Given the description of an element on the screen output the (x, y) to click on. 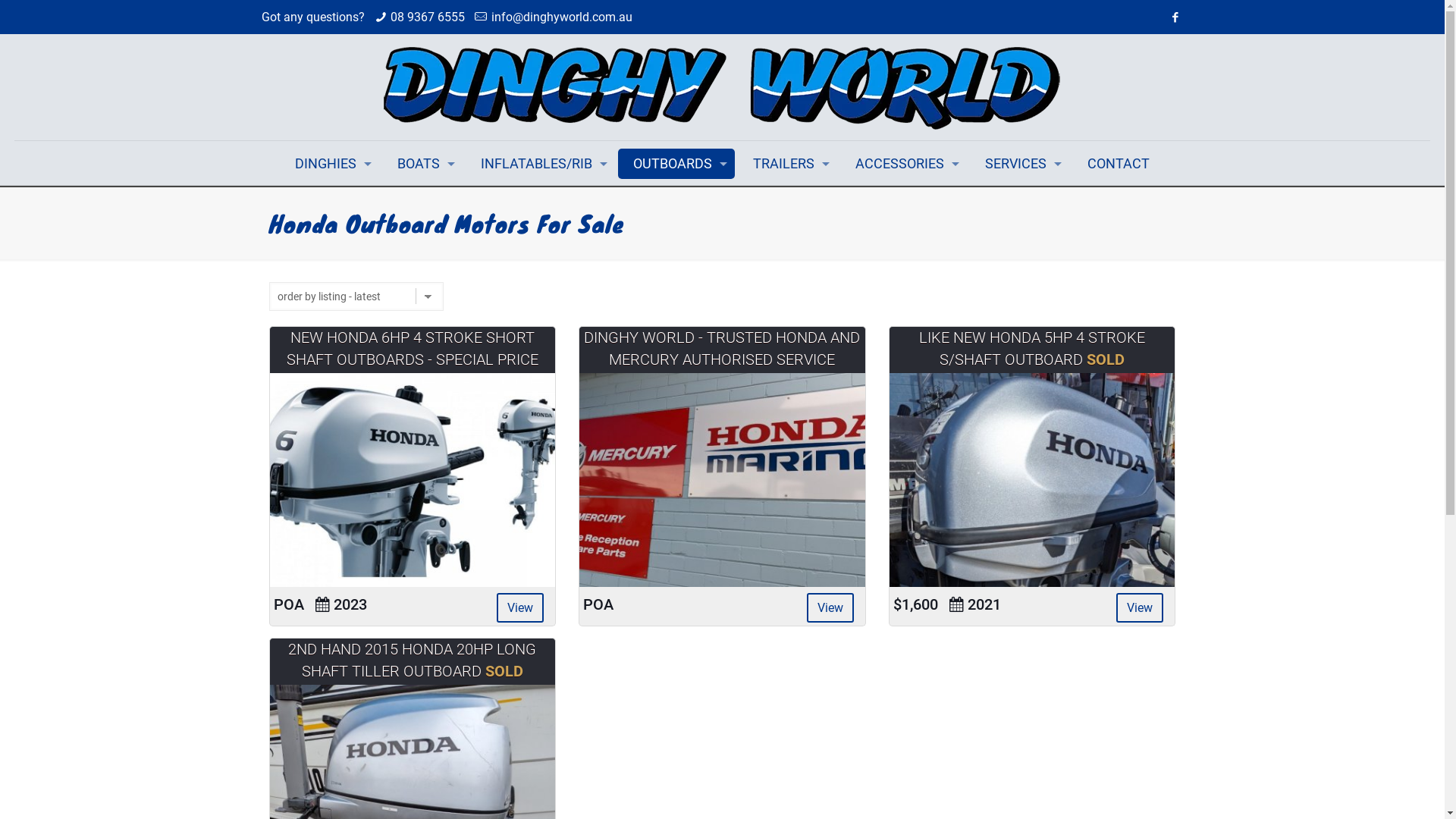
TRAILERS Element type: text (787, 163)
LIKE NEW HONDA 5HP 4 STROKE S/SHAFT OUTBOARD SOLD Element type: text (1032, 348)
View Element type: text (519, 607)
08 9367 6555 Element type: text (427, 16)
View Element type: text (1139, 607)
LIKE NEW HONDA 5HP 4 STROKE S/SHAFT OUTBOARD Element type: hover (1032, 479)
BOATS Element type: text (422, 163)
OUTBOARDS Element type: text (676, 163)
INFLATABLES/RIB Element type: text (540, 163)
Facebook Element type: hover (1175, 17)
NEW HONDA 6HP 4 STROKE SHORT SHAFT OUTBOARDS - SPECIAL PRICE Element type: hover (412, 479)
info@dinghyworld.com.au Element type: text (561, 16)
2ND HAND 2015 HONDA 20HP LONG SHAFT TILLER OUTBOARD SOLD Element type: text (412, 660)
Dinghy World Element type: hover (721, 87)
SERVICES Element type: text (1019, 163)
ACCESSORIES Element type: text (903, 163)
DINGHIES Element type: text (329, 163)
NEW HONDA 6HP 4 STROKE SHORT SHAFT OUTBOARDS - SPECIAL PRICE Element type: text (412, 348)
CONTACT Element type: text (1118, 163)
View Element type: text (829, 607)
